Given the description of an element on the screen output the (x, y) to click on. 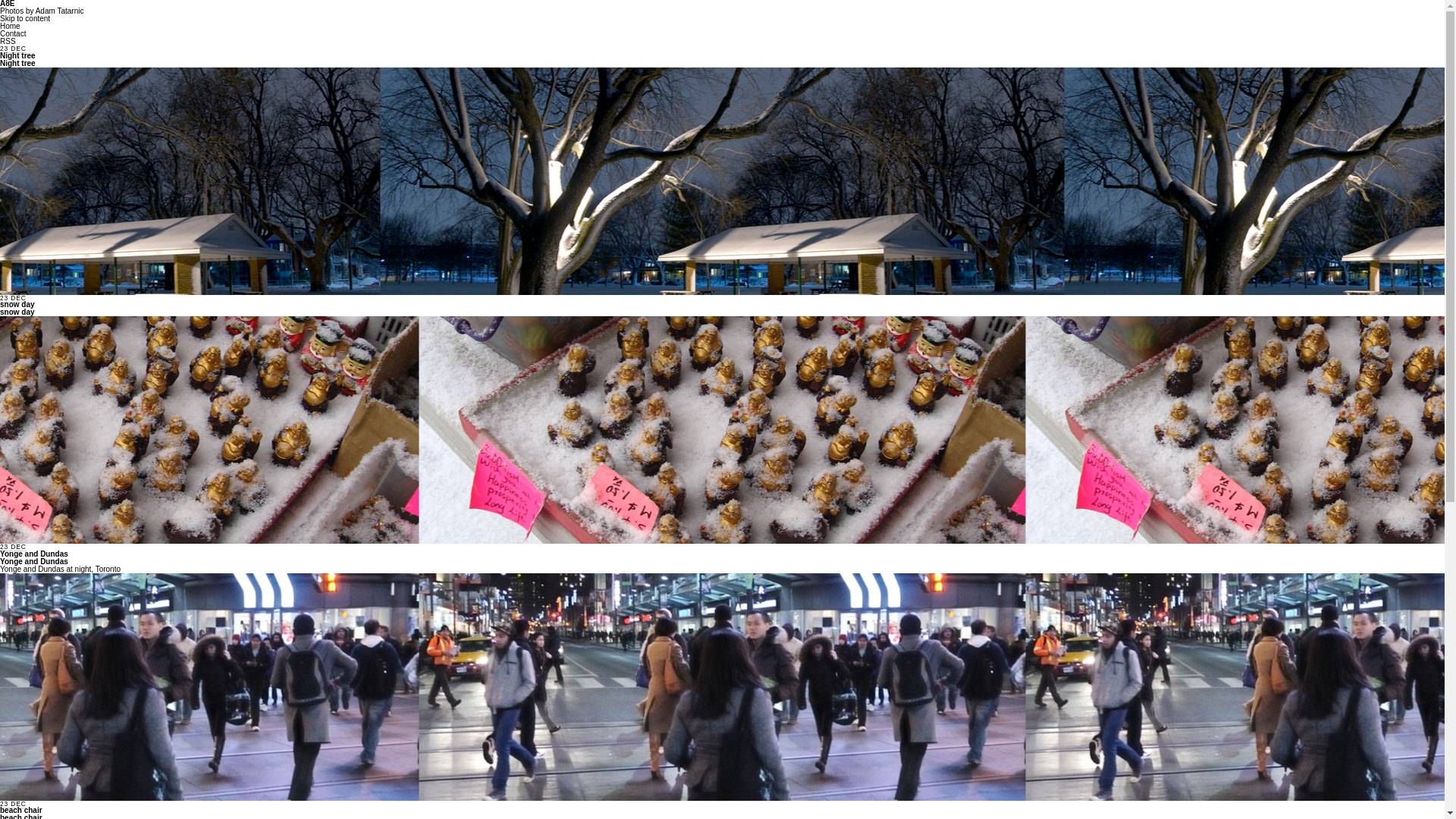
Contact Element type: text (12, 33)
Skip to content Element type: text (25, 18)
beach chair Element type: text (21, 810)
Home Element type: text (10, 25)
Yonge and Dundas Element type: text (34, 553)
Night tree Element type: text (17, 55)
RSS Element type: text (7, 41)
snow day Element type: text (17, 304)
